Given the description of an element on the screen output the (x, y) to click on. 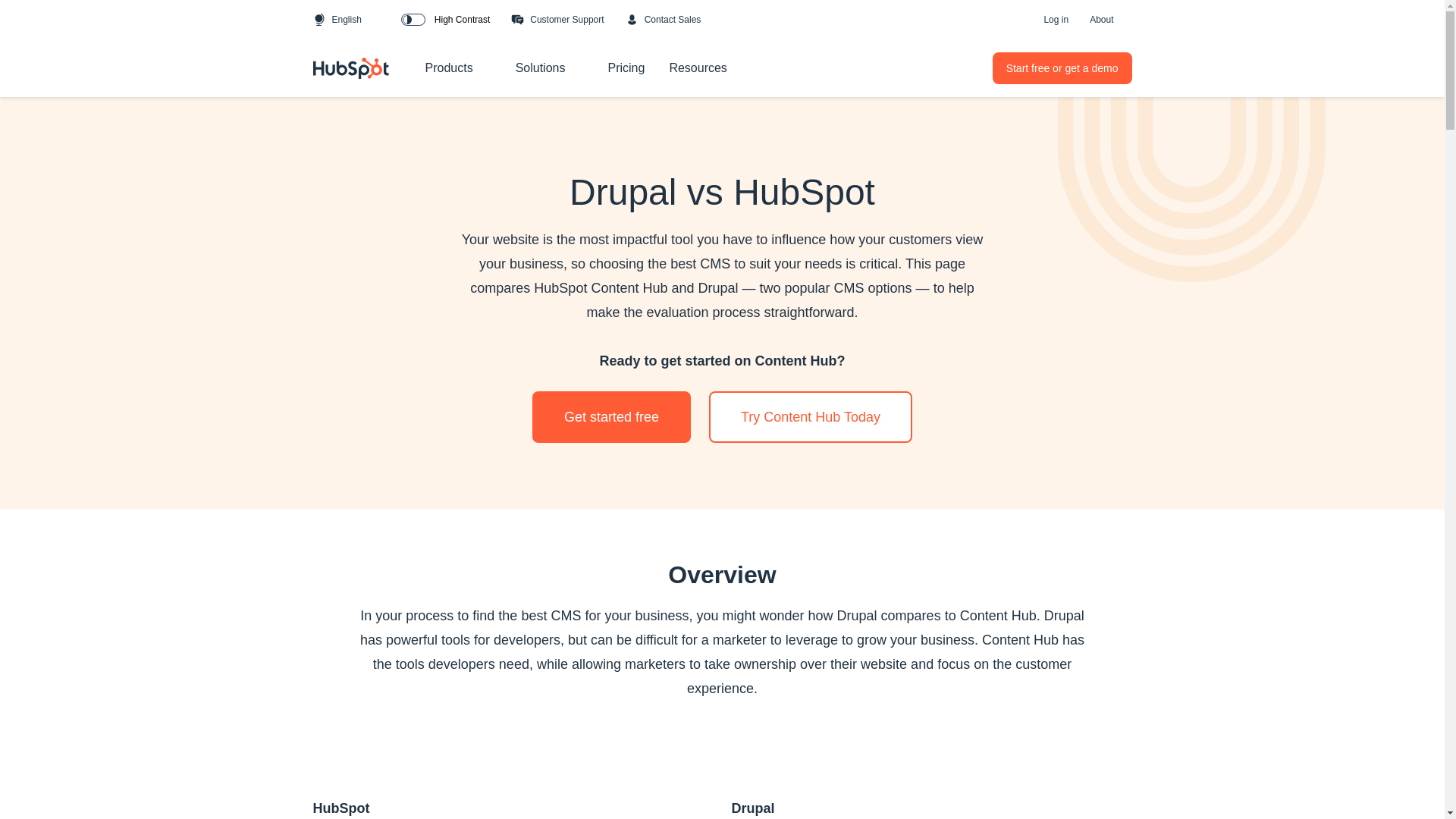
High Contrast (445, 19)
Customer Support (557, 19)
Contact Sales (663, 19)
Products (484, 69)
Solutions (576, 69)
Log in (1055, 19)
About (1124, 19)
English (337, 19)
About (1101, 19)
Select a language (373, 19)
